Given the description of an element on the screen output the (x, y) to click on. 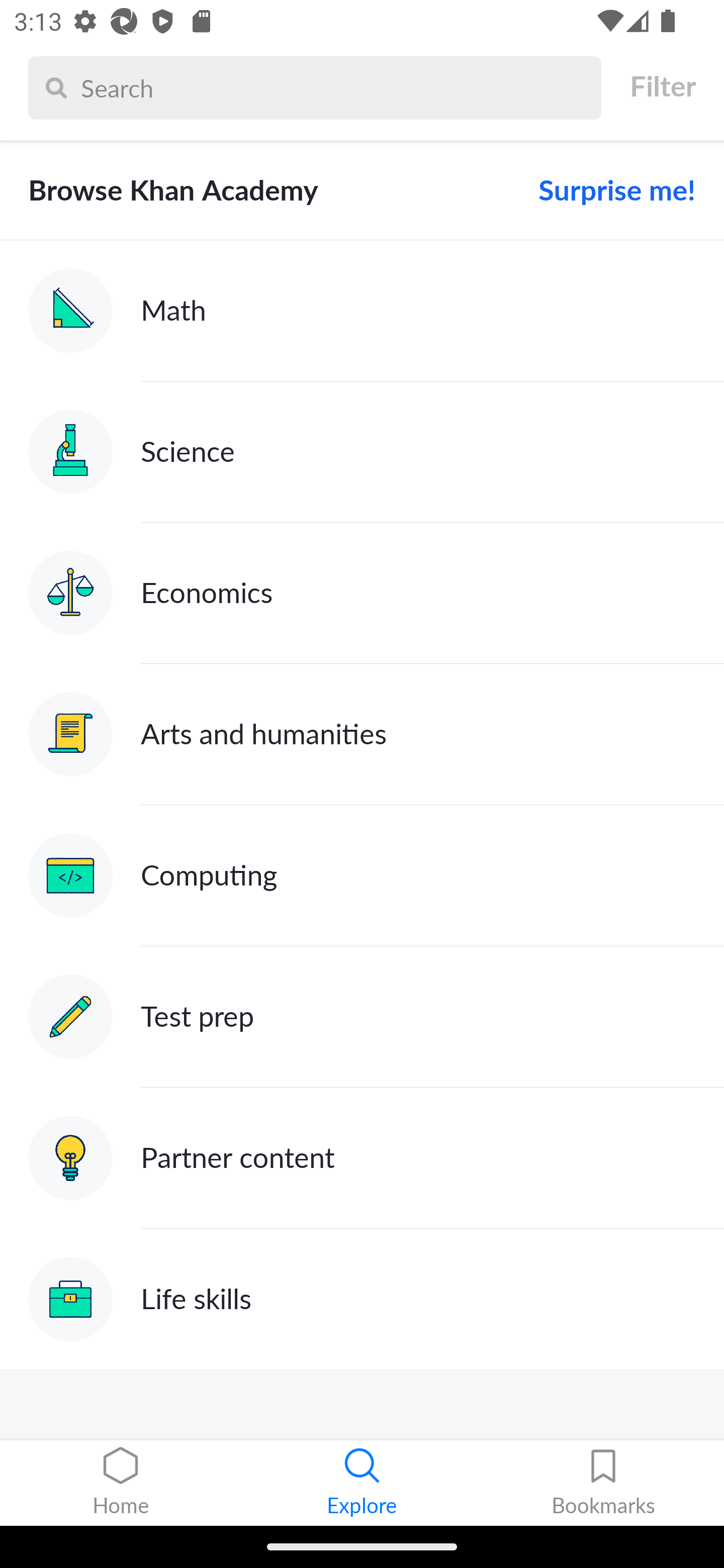
Search Search Search (314, 87)
Search (335, 87)
Filter (662, 85)
Surprise me! (609, 190)
Math (362, 310)
Science (362, 451)
Economics (362, 592)
Arts and humanities (362, 733)
Computing (362, 875)
Test prep (362, 1017)
Partner content (362, 1158)
Life skills (362, 1298)
Home (120, 1482)
Explore (361, 1482)
Bookmarks (603, 1482)
